Given the description of an element on the screen output the (x, y) to click on. 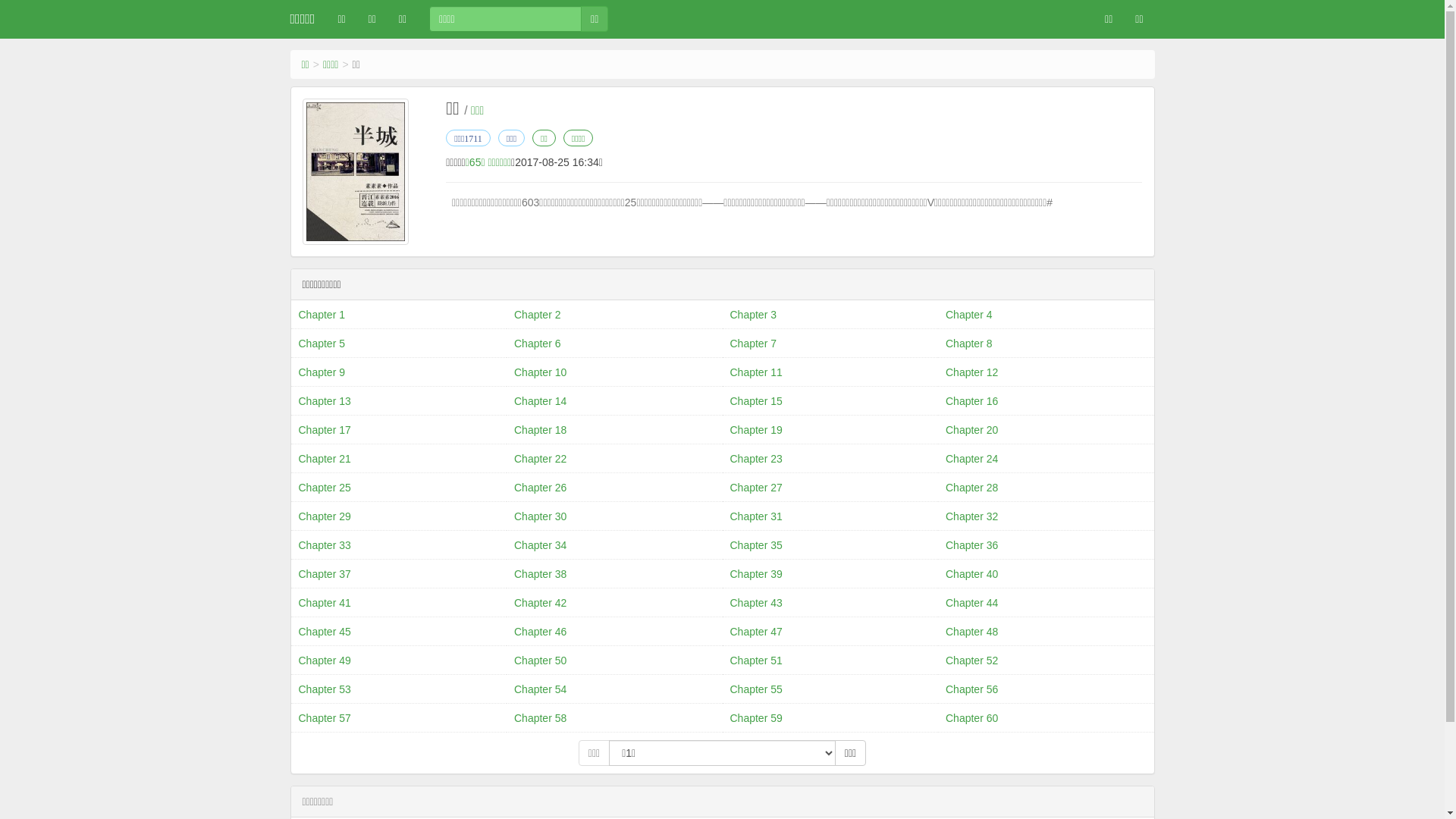
Chapter 15 Element type: text (829, 400)
Chapter 50 Element type: text (614, 660)
Chapter 5 Element type: text (398, 343)
Chapter 58 Element type: text (614, 717)
Chapter 24 Element type: text (1045, 458)
Chapter 45 Element type: text (398, 631)
Chapter 56 Element type: text (1045, 688)
Chapter 11 Element type: text (829, 371)
Chapter 41 Element type: text (398, 602)
Chapter 44 Element type: text (1045, 602)
Chapter 13 Element type: text (398, 400)
Chapter 46 Element type: text (614, 631)
Chapter 43 Element type: text (829, 602)
Chapter 35 Element type: text (829, 544)
Chapter 17 Element type: text (398, 429)
Chapter 12 Element type: text (1045, 371)
Chapter 1 Element type: text (398, 314)
Chapter 26 Element type: text (614, 487)
Chapter 55 Element type: text (829, 688)
Chapter 18 Element type: text (614, 429)
Chapter 53 Element type: text (398, 688)
Chapter 31 Element type: text (829, 516)
Chapter 29 Element type: text (398, 516)
Chapter 14 Element type: text (614, 400)
Chapter 25 Element type: text (398, 487)
Chapter 23 Element type: text (829, 458)
Chapter 30 Element type: text (614, 516)
Chapter 2 Element type: text (614, 314)
Chapter 40 Element type: text (1045, 573)
Chapter 59 Element type: text (829, 717)
Chapter 3 Element type: text (829, 314)
Chapter 34 Element type: text (614, 544)
Chapter 38 Element type: text (614, 573)
Chapter 6 Element type: text (614, 343)
Chapter 10 Element type: text (614, 371)
Chapter 36 Element type: text (1045, 544)
Chapter 37 Element type: text (398, 573)
Chapter 21 Element type: text (398, 458)
Chapter 51 Element type: text (829, 660)
Chapter 16 Element type: text (1045, 400)
Chapter 4 Element type: text (1045, 314)
Chapter 19 Element type: text (829, 429)
Chapter 32 Element type: text (1045, 516)
Chapter 42 Element type: text (614, 602)
Chapter 52 Element type: text (1045, 660)
Chapter 54 Element type: text (614, 688)
Chapter 7 Element type: text (829, 343)
Chapter 8 Element type: text (1045, 343)
Chapter 39 Element type: text (829, 573)
Chapter 22 Element type: text (614, 458)
Chapter 57 Element type: text (398, 717)
Chapter 47 Element type: text (829, 631)
Chapter 60 Element type: text (1045, 717)
Chapter 9 Element type: text (398, 371)
Chapter 33 Element type: text (398, 544)
Chapter 48 Element type: text (1045, 631)
Chapter 20 Element type: text (1045, 429)
Chapter 27 Element type: text (829, 487)
Chapter 49 Element type: text (398, 660)
Chapter 28 Element type: text (1045, 487)
